Given the description of an element on the screen output the (x, y) to click on. 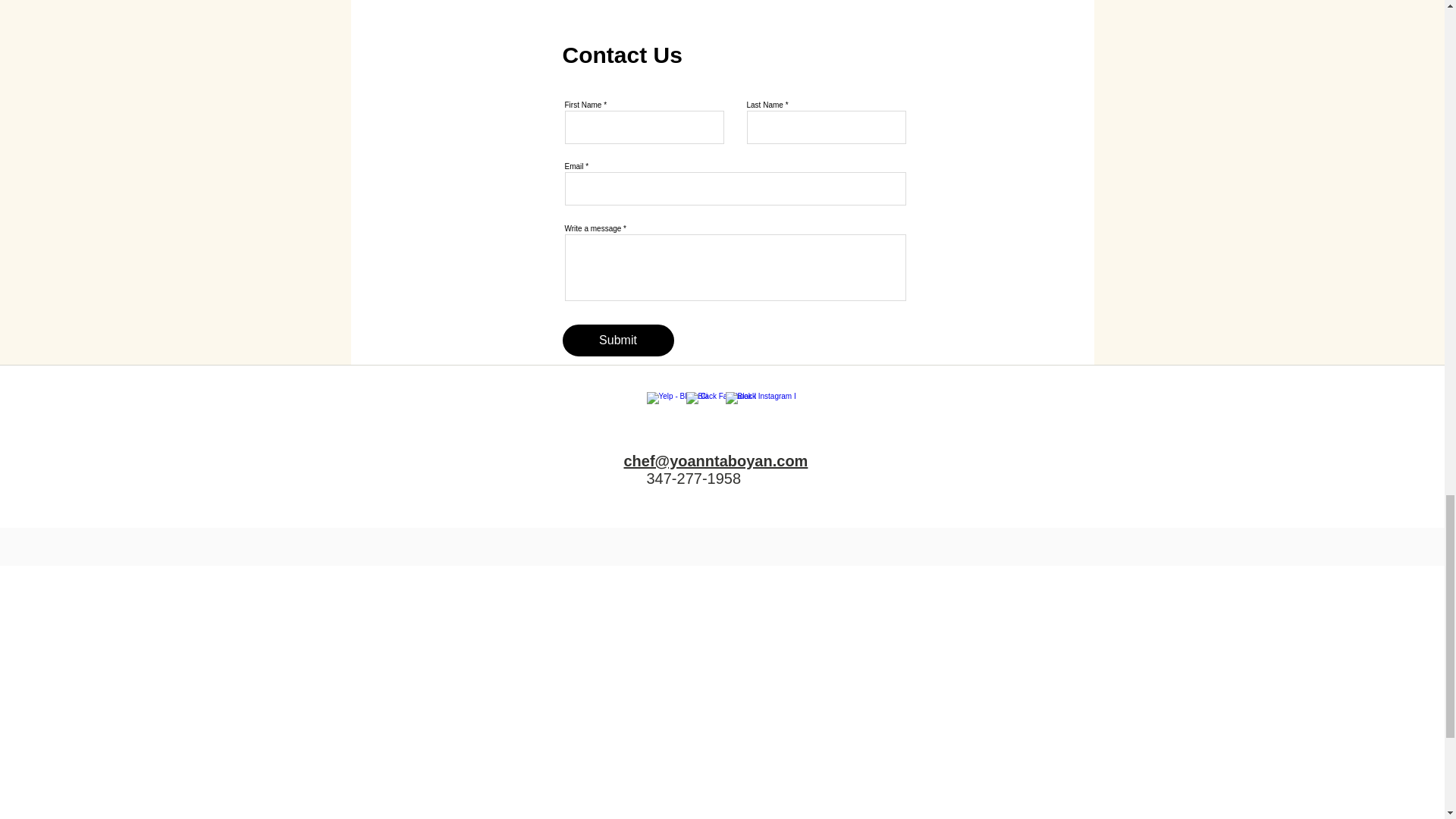
Submit (618, 340)
